Given the description of an element on the screen output the (x, y) to click on. 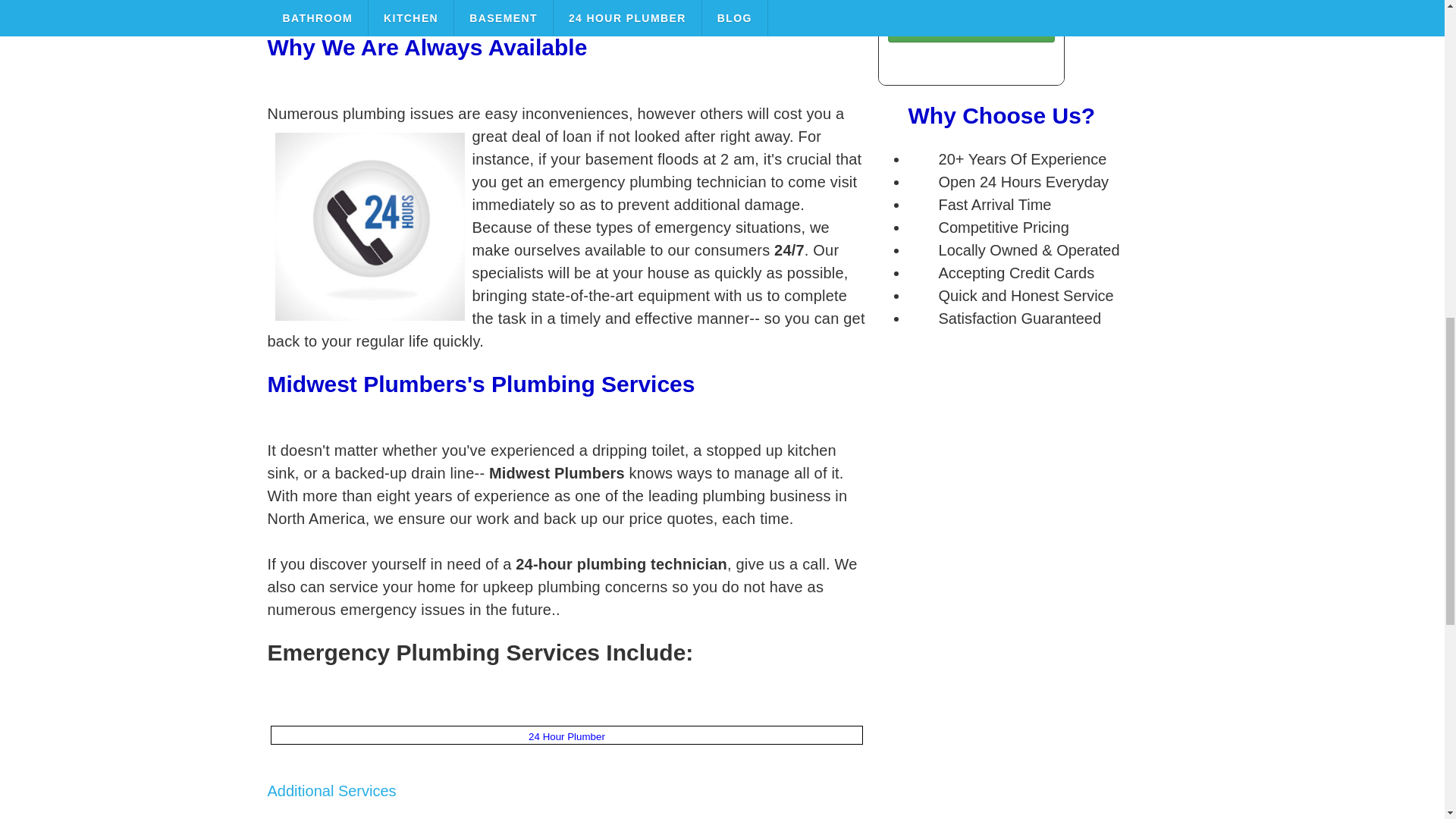
Additional Services (331, 790)
24 Hour Plumber (566, 736)
